Given the description of an element on the screen output the (x, y) to click on. 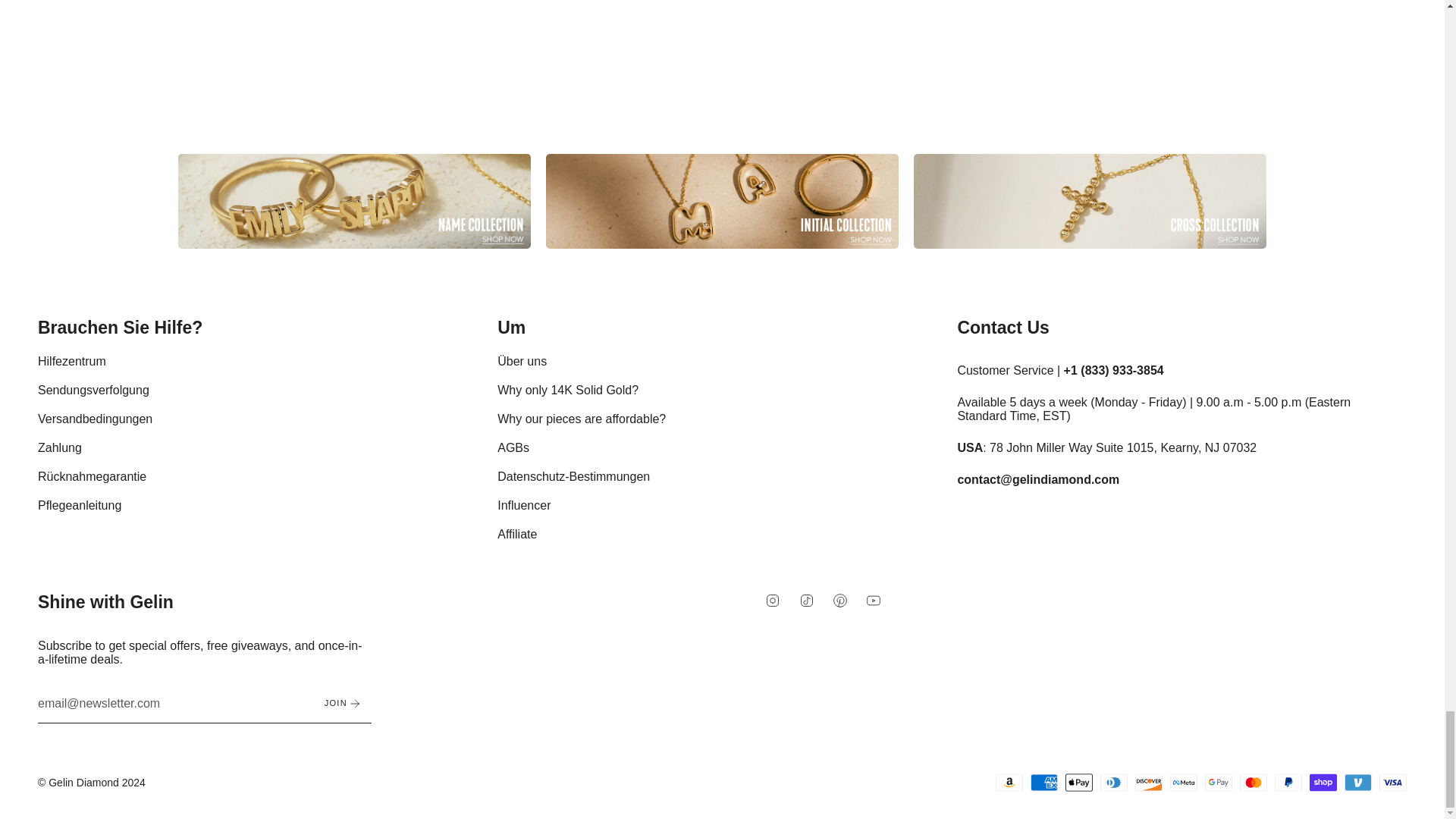
Gelin Diamond auf Instagram (772, 599)
Gelin Diamond auf Pinterest (839, 599)
Gelin Diamond auf YouTube (873, 599)
Gelin Diamond auf TikTok (806, 599)
